Given the description of an element on the screen output the (x, y) to click on. 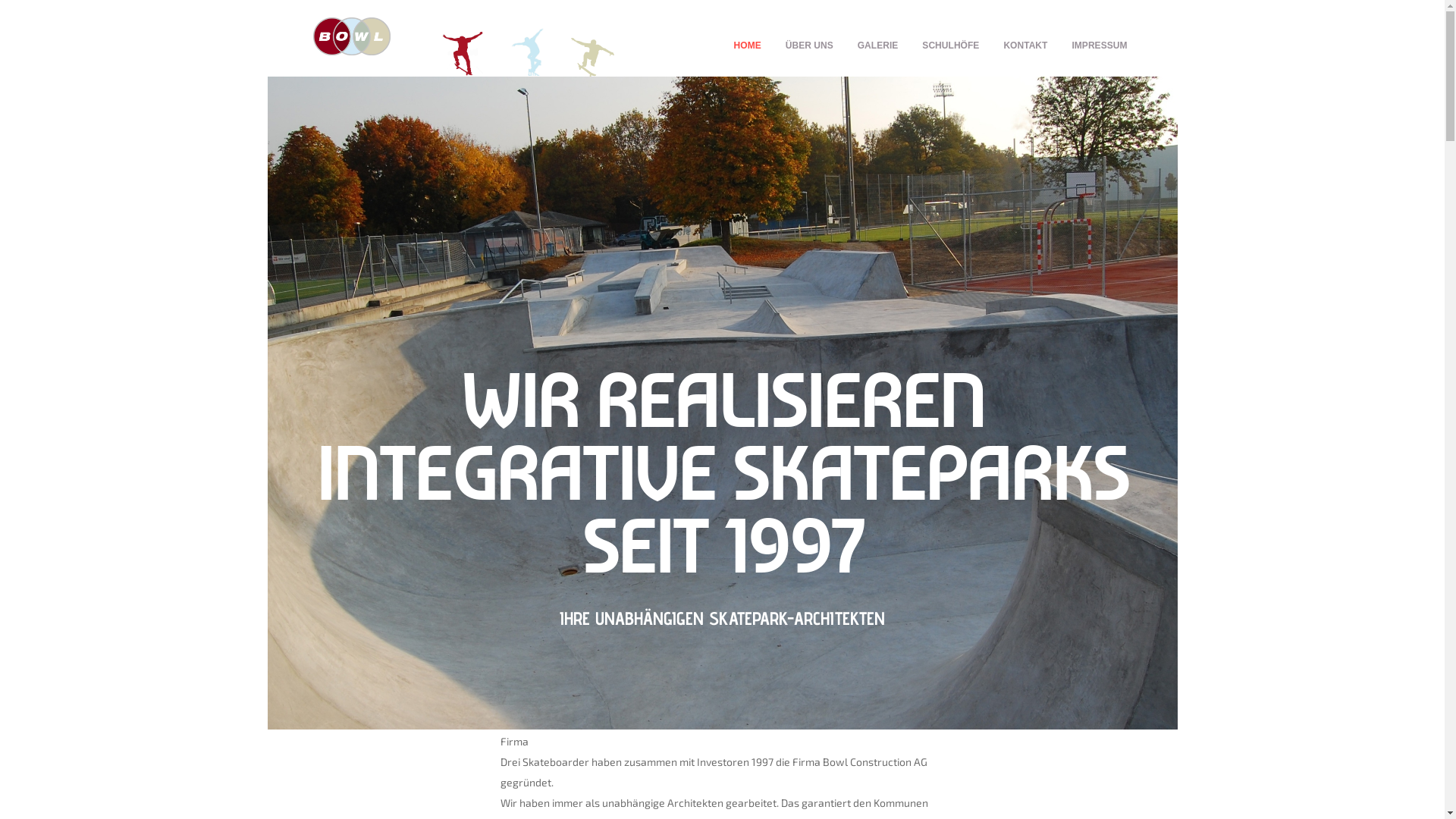
KONTAKT Element type: text (1024, 45)
IMPRESSUM Element type: text (1099, 45)
GALERIE Element type: text (878, 45)
HOME Element type: text (747, 45)
